Given the description of an element on the screen output the (x, y) to click on. 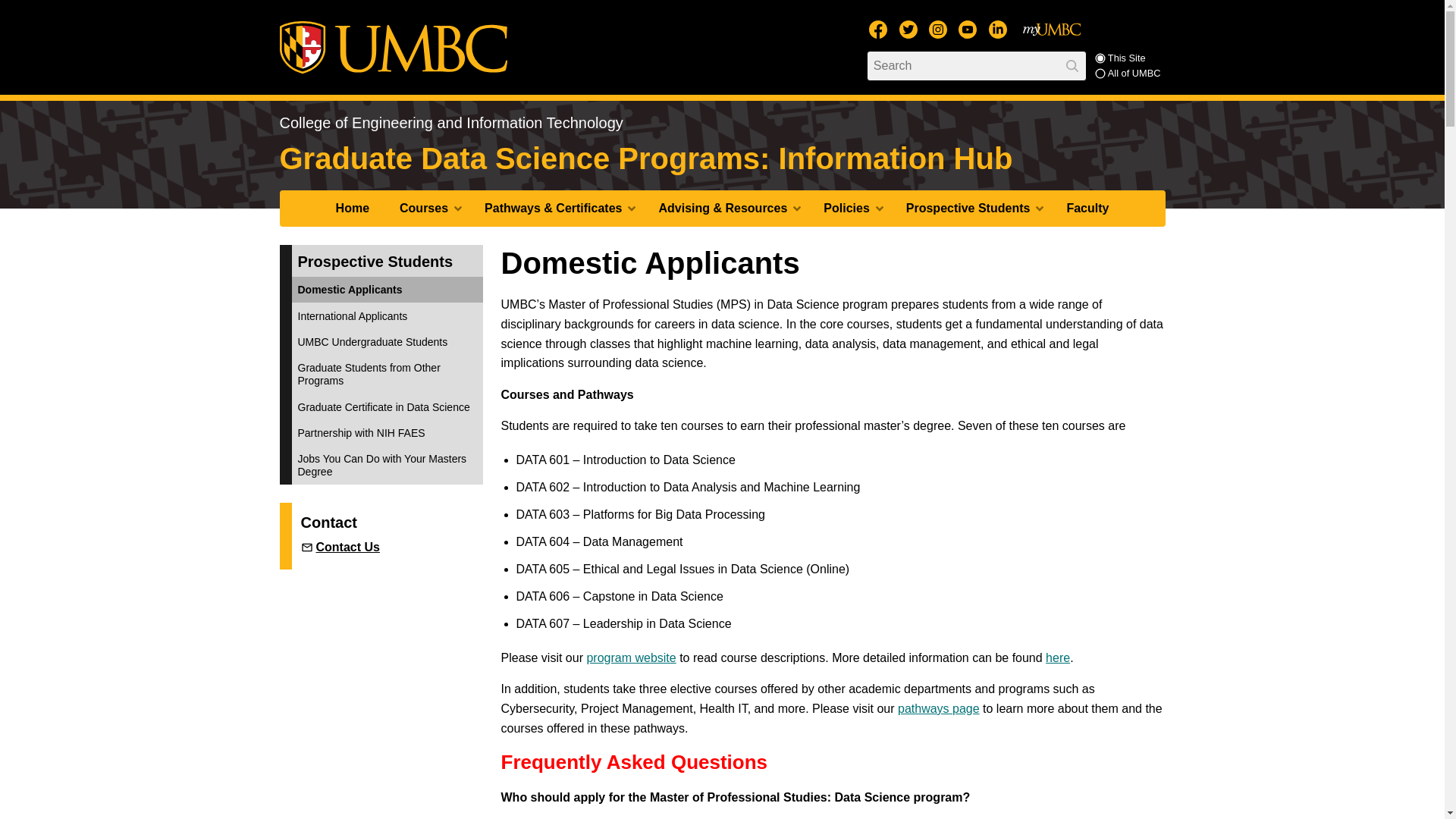
Courses (426, 208)
College of Engineering and Information Technology (451, 122)
Prospective Students (971, 208)
Home (352, 208)
Graduate Data Science Programs: Information Hub (645, 158)
Policies (848, 208)
